Given the description of an element on the screen output the (x, y) to click on. 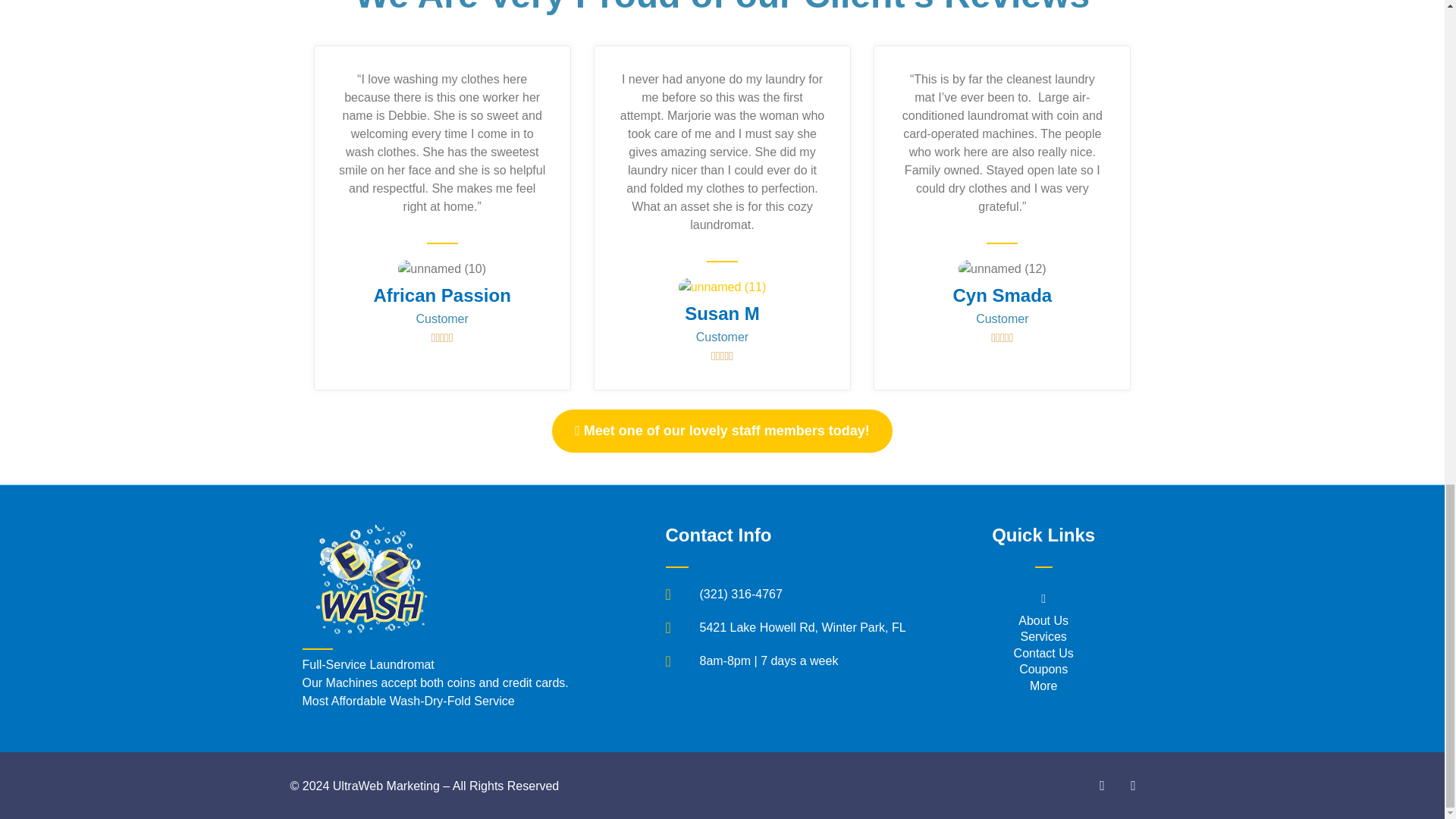
Coupons (1043, 669)
More (1043, 686)
Meet one of our lovely staff members today! (721, 430)
5421 Lake Howell Rd, Winter Park, FL (794, 628)
Services (1043, 636)
About Us (1043, 620)
Contact Us (1043, 653)
